Given the description of an element on the screen output the (x, y) to click on. 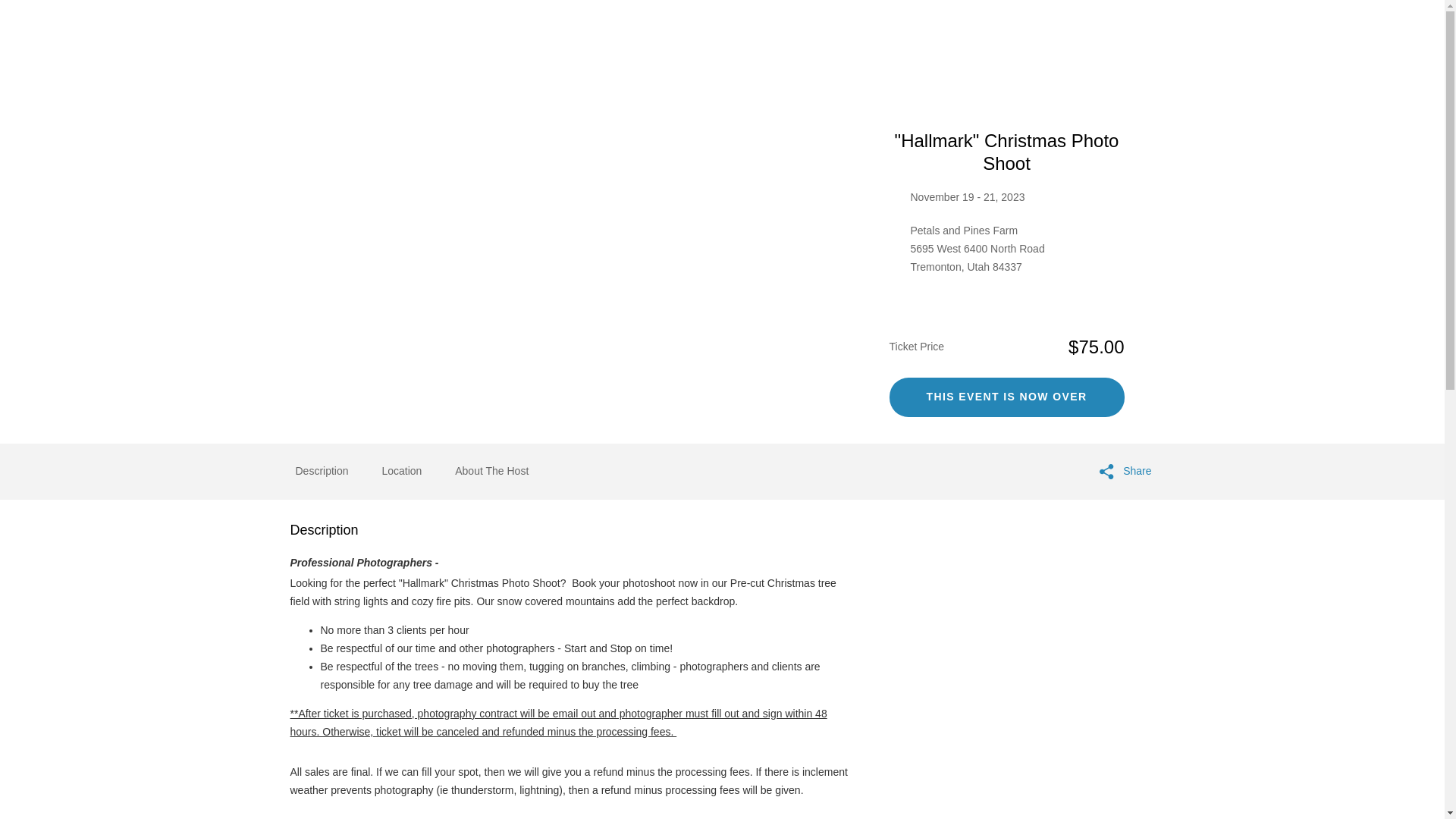
About The Host (491, 471)
Location (401, 471)
Description (322, 471)
About The Host (491, 470)
Share (1125, 471)
Location (401, 470)
Description (322, 470)
